Given the description of an element on the screen output the (x, y) to click on. 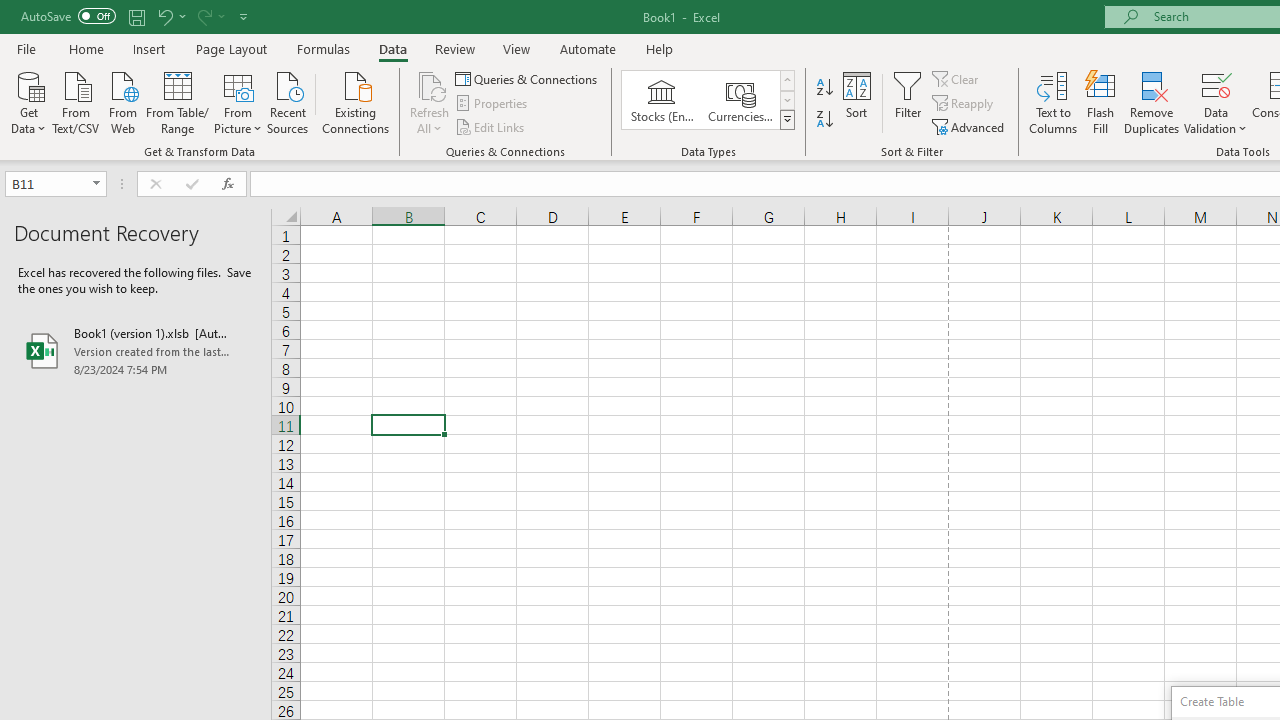
Data Types (786, 120)
